Given the description of an element on the screen output the (x, y) to click on. 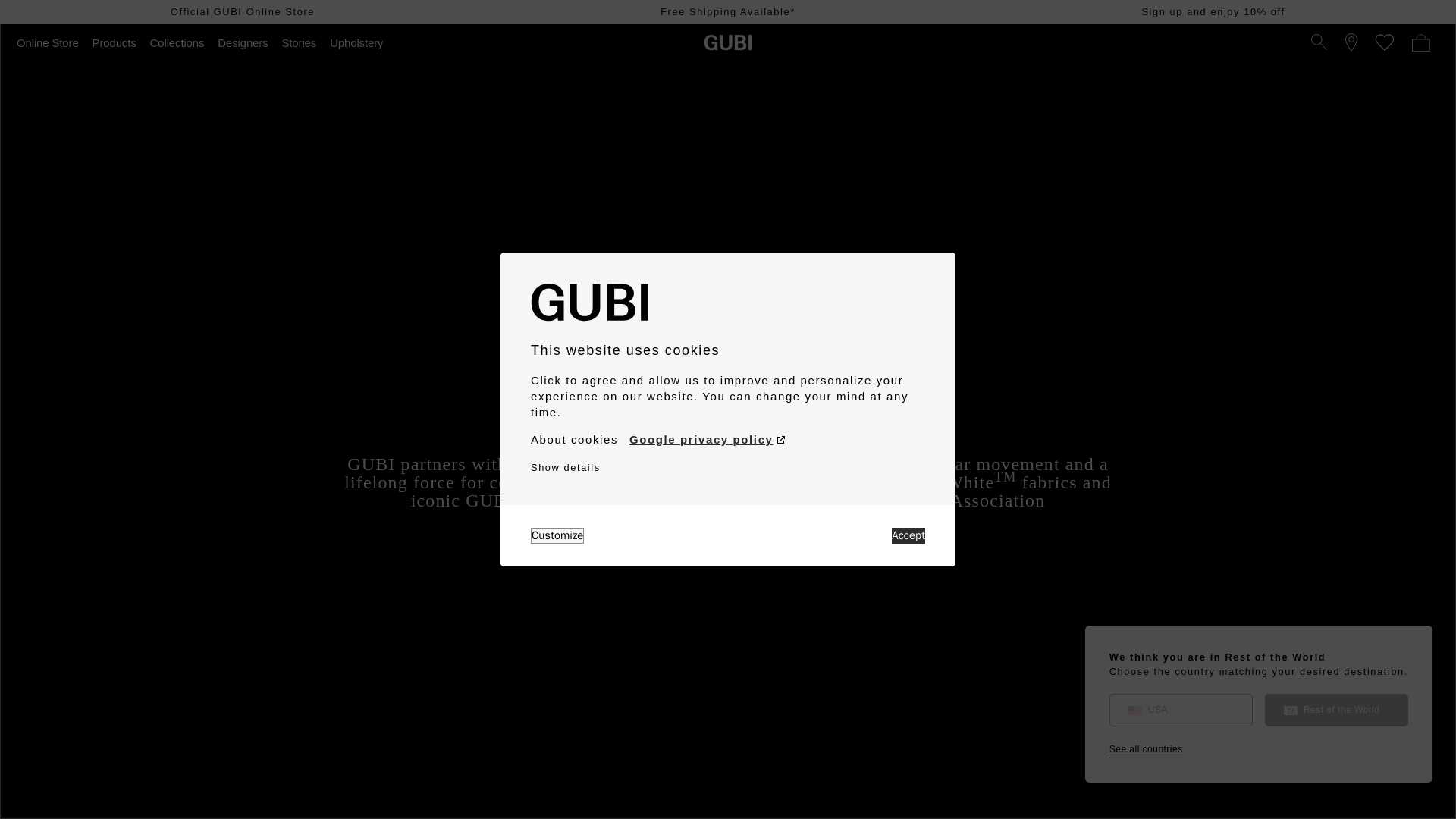
Show details (565, 467)
Google privacy policy (707, 439)
About cookies (574, 439)
